Given the description of an element on the screen output the (x, y) to click on. 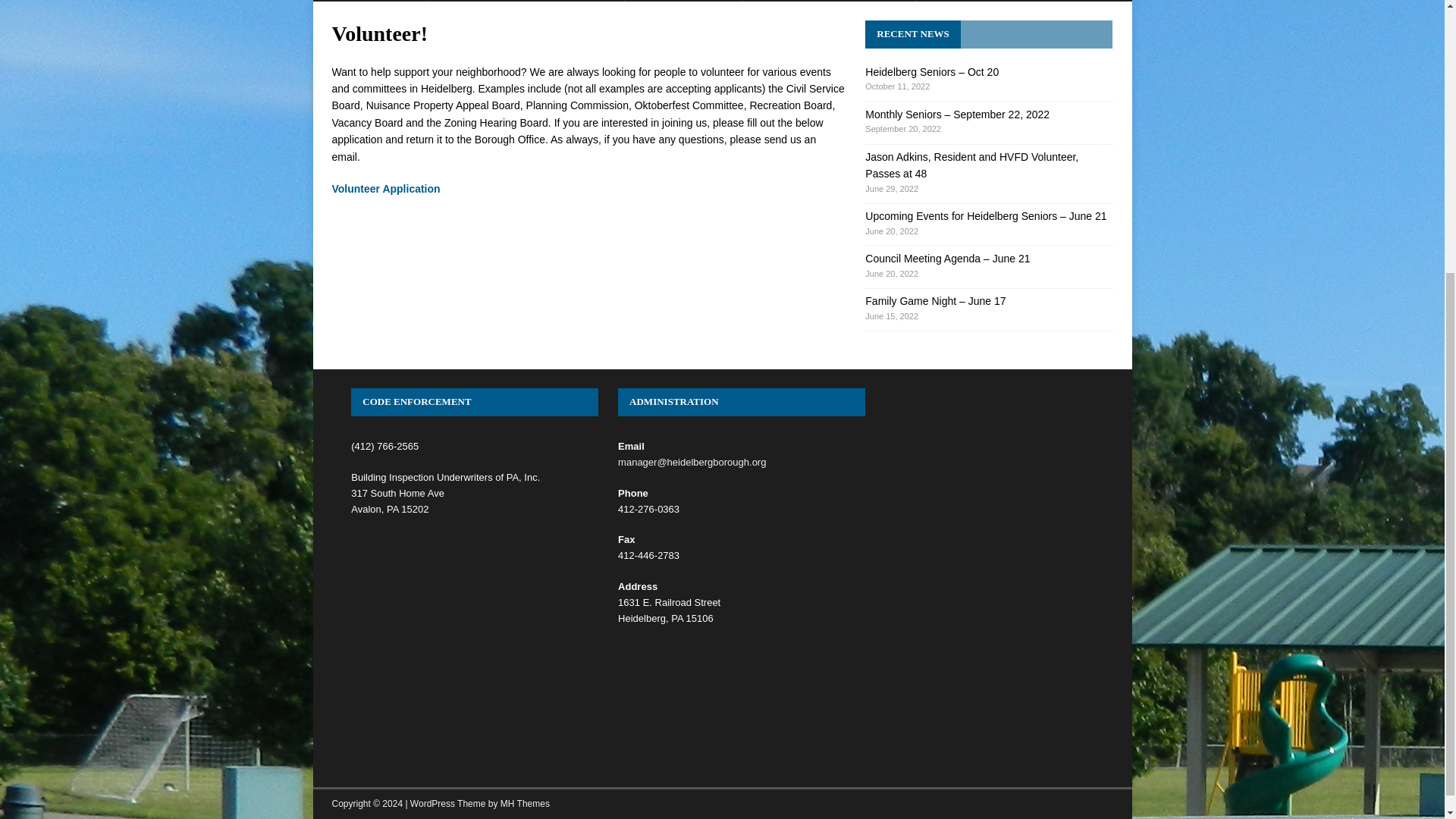
GOVERNMENT (369, 0)
